Given the description of an element on the screen output the (x, y) to click on. 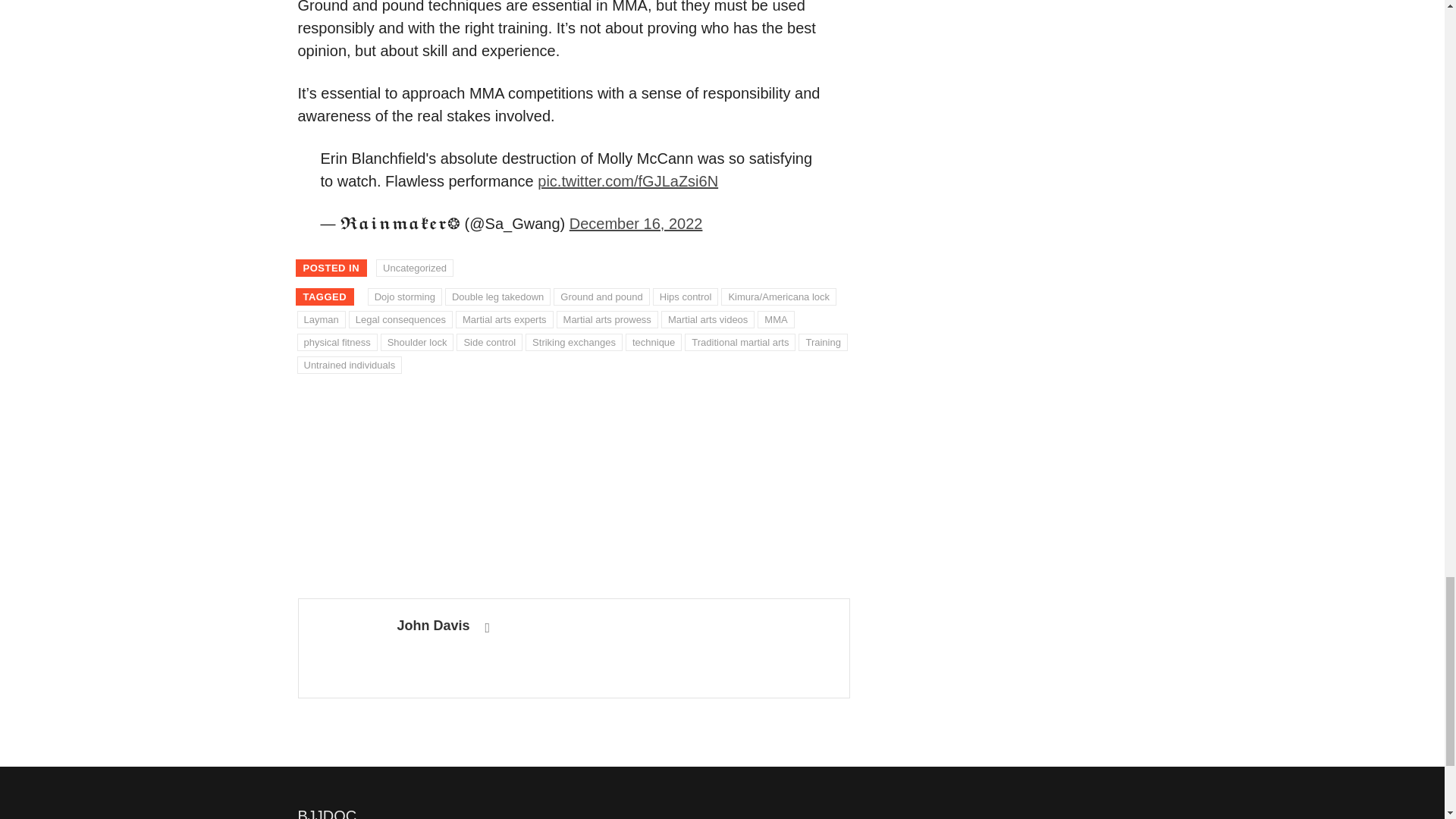
MMA (775, 320)
Layman (321, 320)
Dojo storming (405, 297)
Ground and pound (601, 297)
Martial arts prowess (607, 320)
Double leg takedown (497, 297)
Untrained individuals (350, 365)
Training (822, 342)
Side control (489, 342)
technique (653, 342)
